Given the description of an element on the screen output the (x, y) to click on. 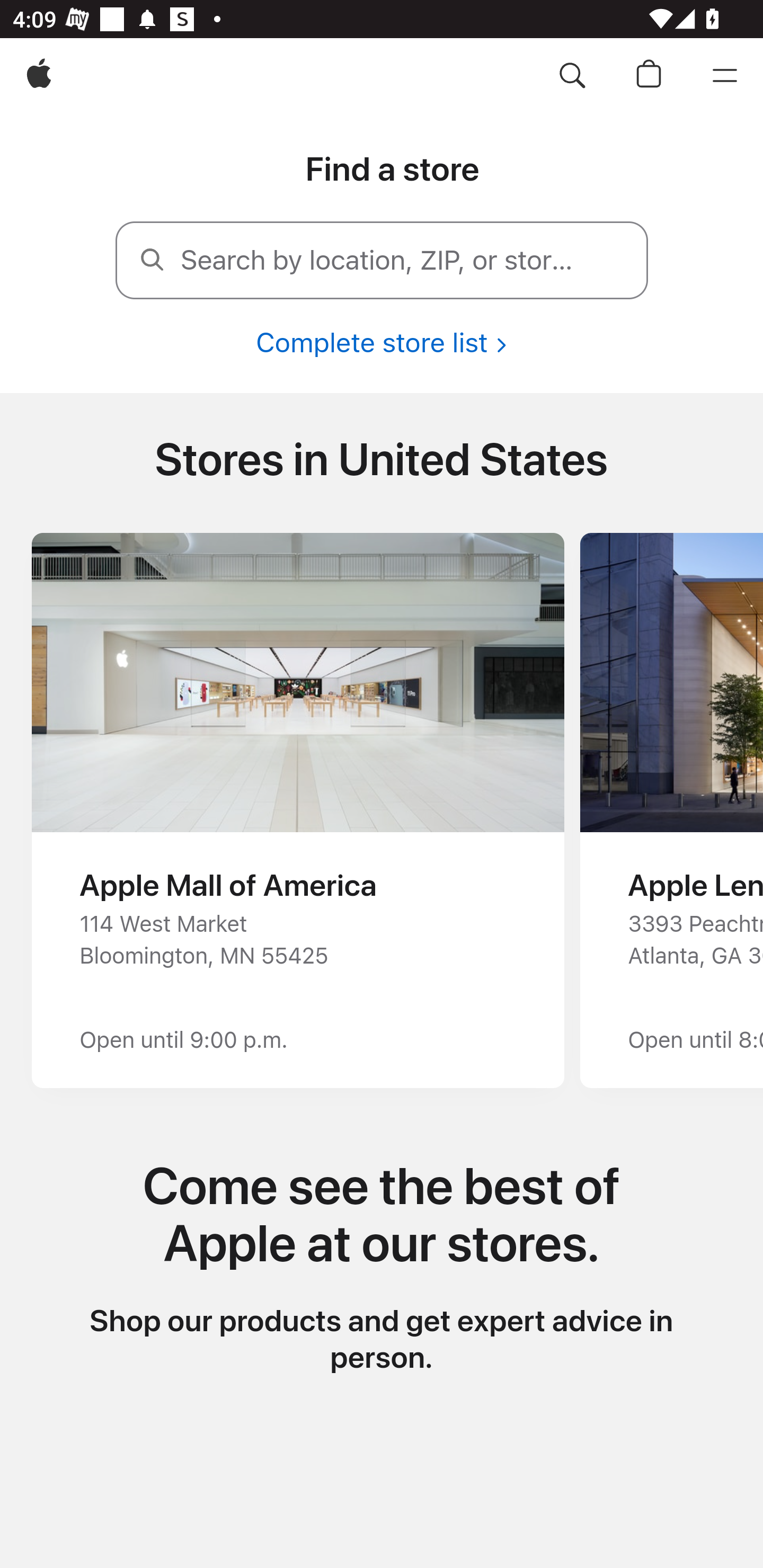
Apple (38, 75)
Search apple.com (572, 75)
Shopping Bag (648, 75)
Menu (724, 75)
Find a store (392, 168)
Complete store list Complete store list  (381, 342)
